Given the description of an element on the screen output the (x, y) to click on. 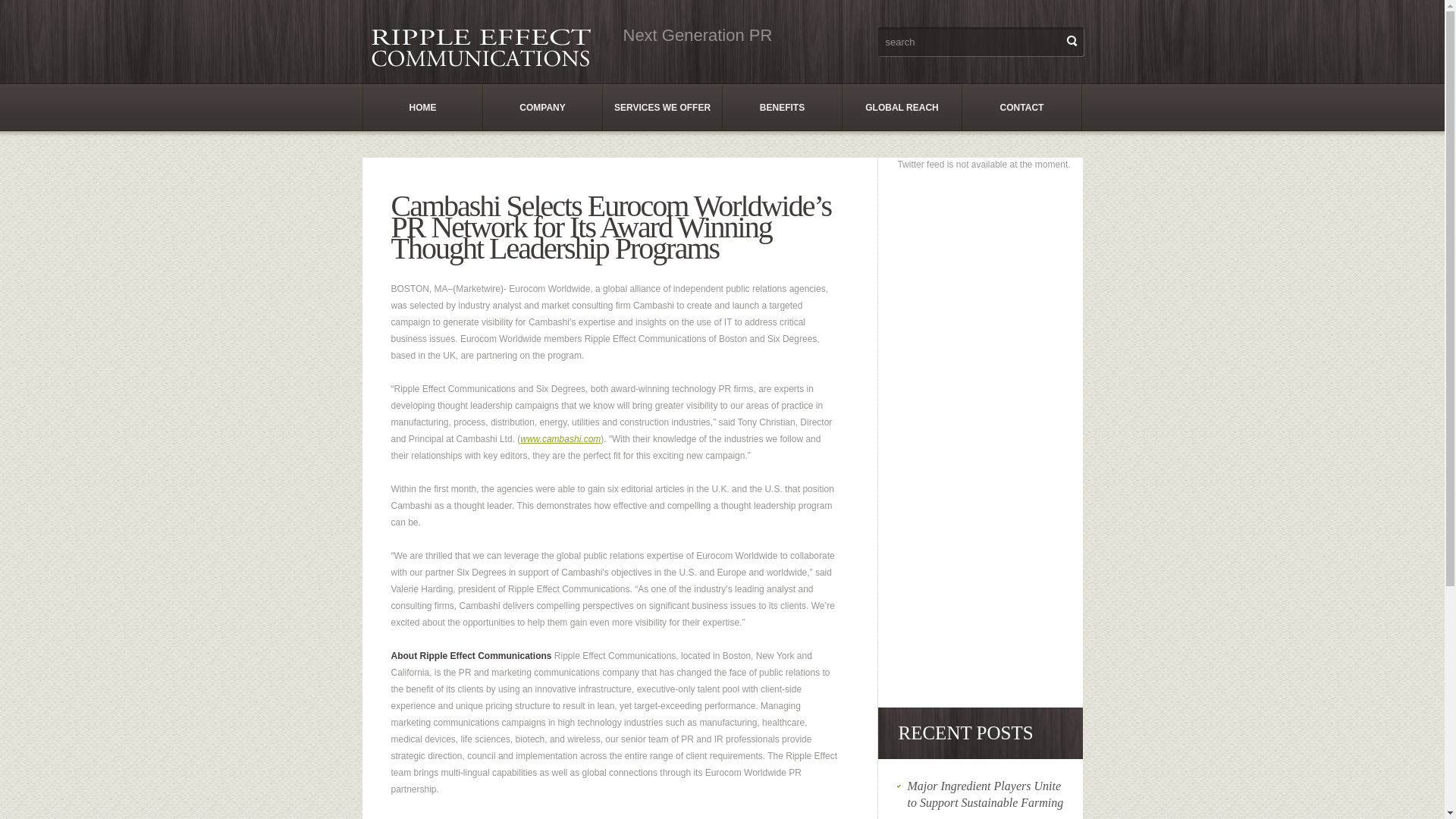
SERVICES WE OFFER (663, 107)
www.cambashi.com (559, 439)
GLOBAL REACH (901, 107)
search (968, 41)
CONTACT (1021, 107)
BENEFITS (782, 107)
HOME (422, 107)
COMPANY (542, 107)
Next Generation PR (486, 47)
